Given the description of an element on the screen output the (x, y) to click on. 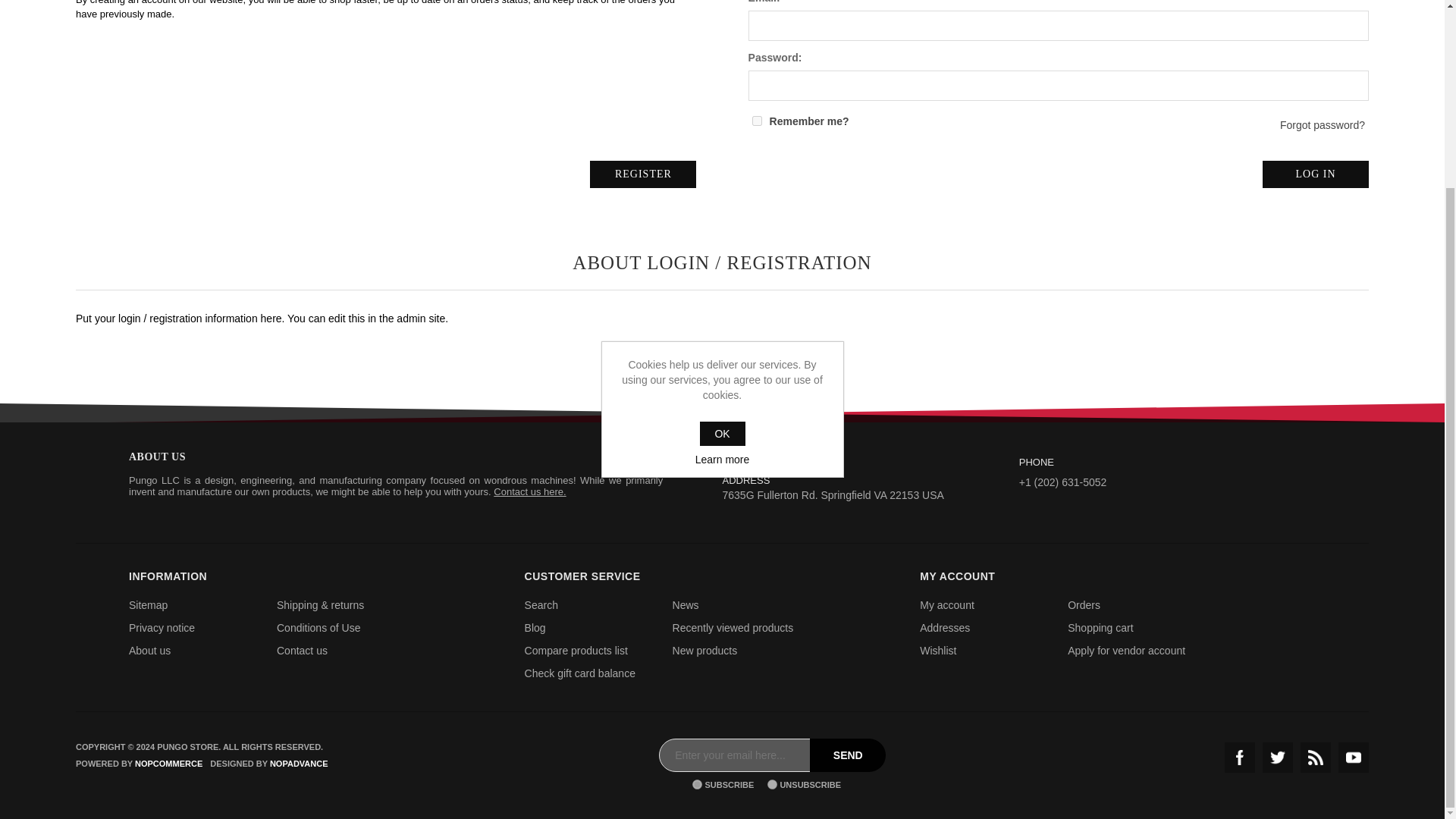
Recently viewed products (732, 627)
News (685, 604)
Sitemap (148, 604)
Log in (1315, 174)
Register (642, 174)
My account (947, 604)
Blog (535, 627)
Search (540, 604)
Wishlist (938, 650)
Check gift card balance (579, 673)
Log in (1315, 174)
Contact us here. (529, 491)
Addresses (944, 627)
Forgot password? (1322, 124)
Compare products list (575, 650)
